Given the description of an element on the screen output the (x, y) to click on. 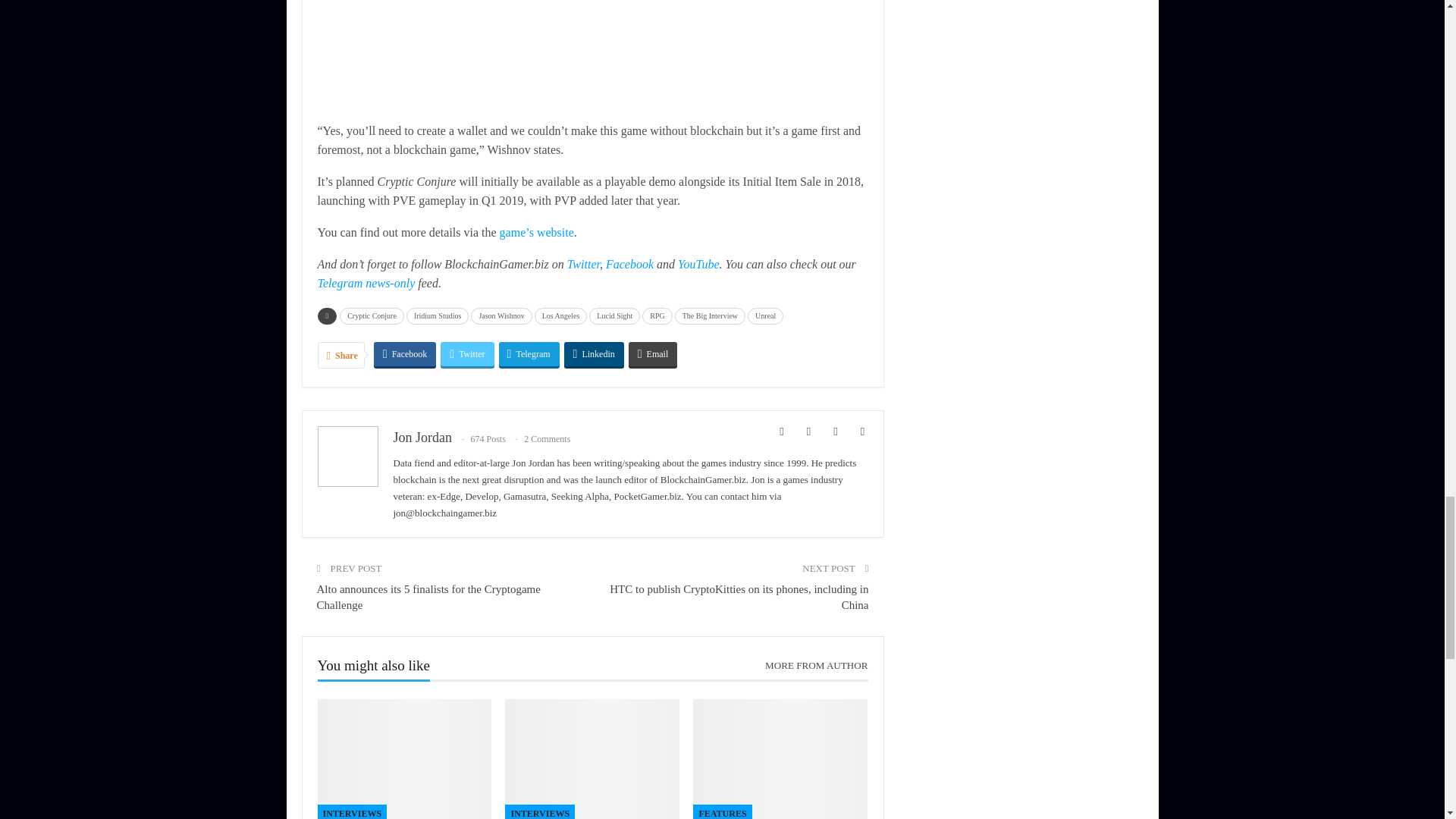
Cryptic Conjure (371, 315)
Los Angeles (561, 315)
Jason Wishnov (500, 315)
Telegram news-only (365, 282)
Twitter (583, 264)
Facebook (629, 264)
YouTube (698, 264)
Telling the tale of Nine Chronicles (404, 759)
Iridium Studios (437, 315)
Lucid Sight (614, 315)
